Given the description of an element on the screen output the (x, y) to click on. 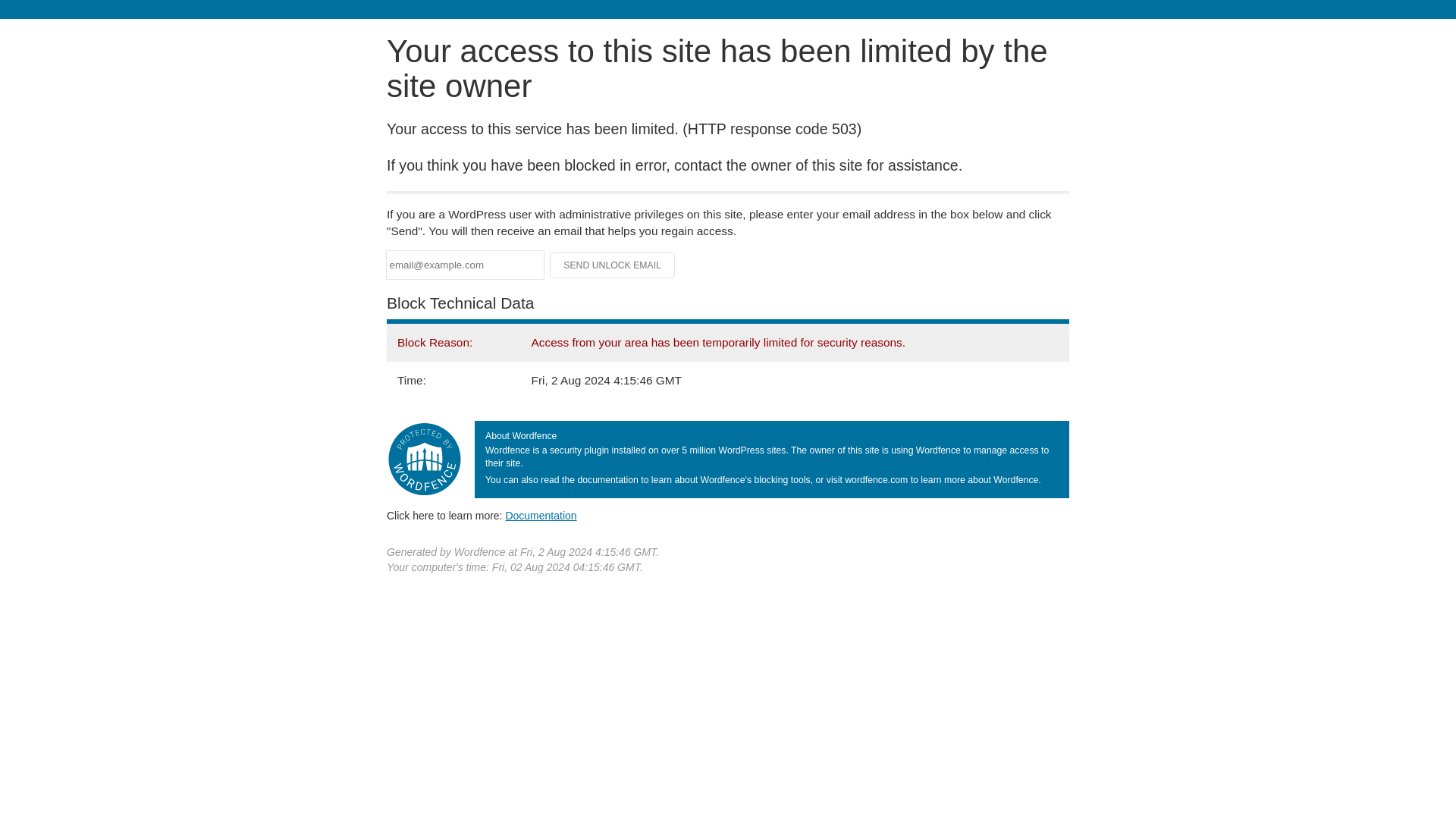
Documentation (540, 515)
Send Unlock Email (612, 265)
Send Unlock Email (612, 265)
